Given the description of an element on the screen output the (x, y) to click on. 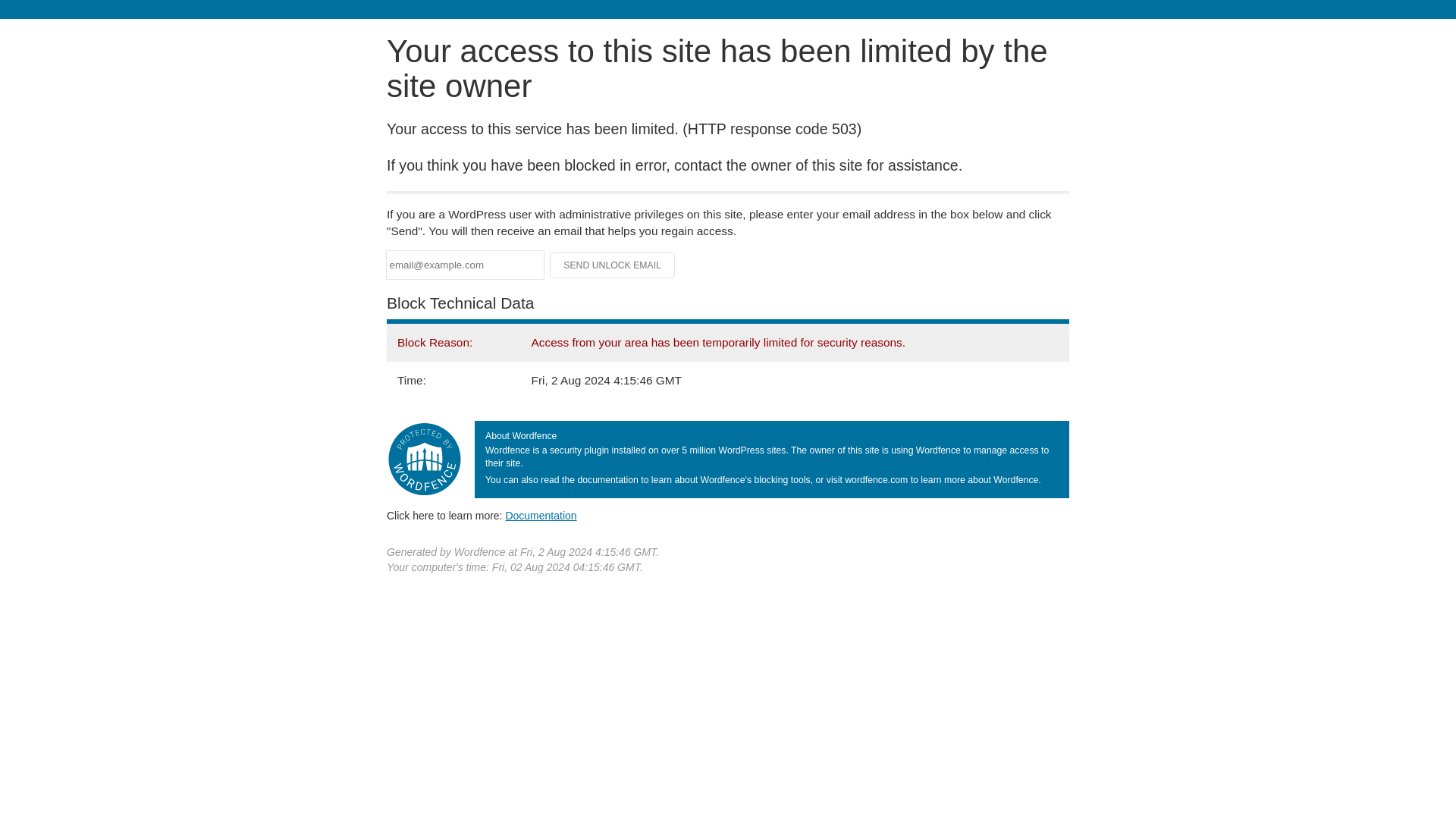
Documentation (540, 515)
Send Unlock Email (612, 265)
Send Unlock Email (612, 265)
